Given the description of an element on the screen output the (x, y) to click on. 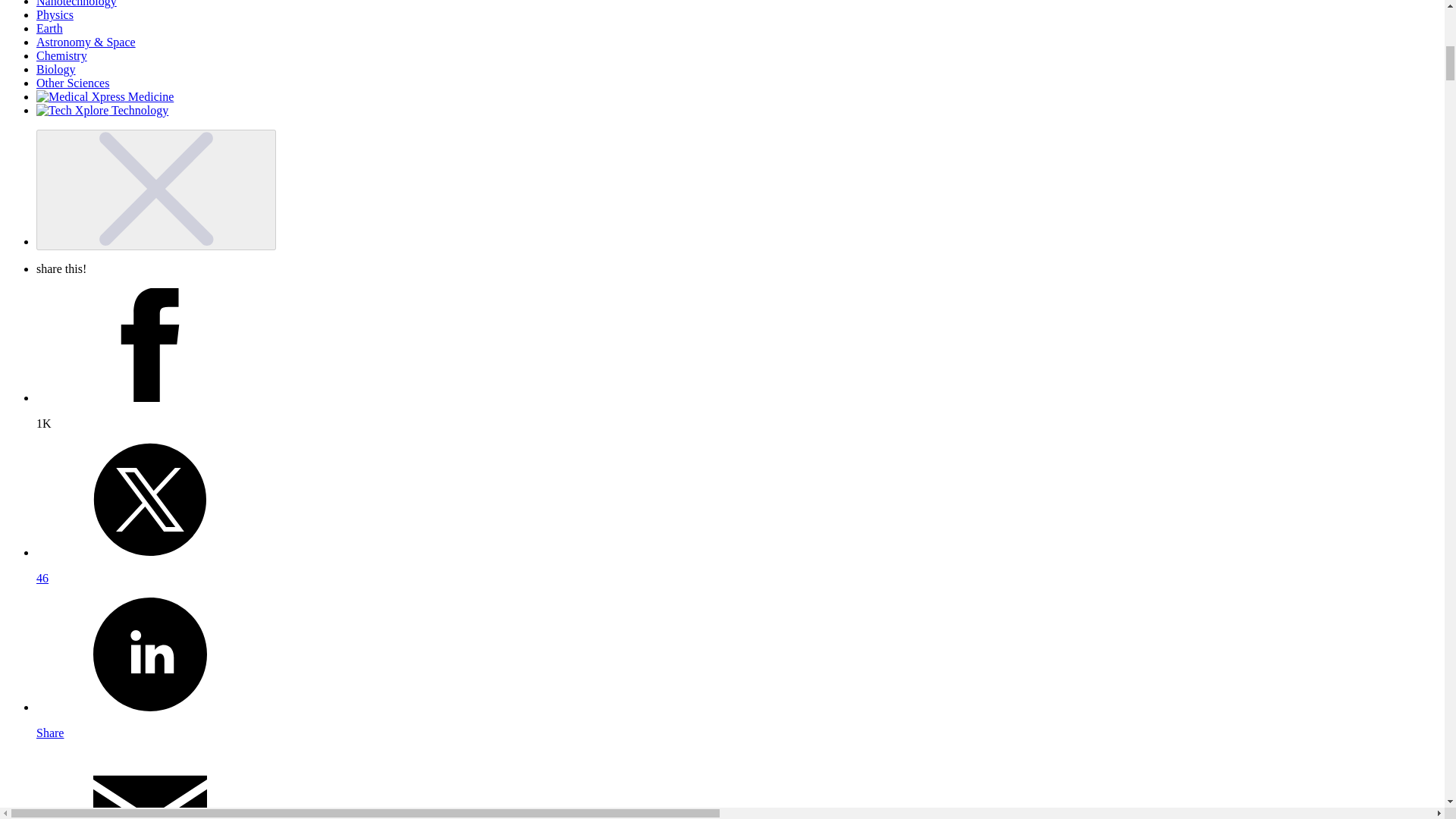
1K (737, 410)
46 (737, 565)
Physics (55, 14)
Technology (102, 110)
Earth (49, 28)
Biology (55, 69)
Chemistry (61, 55)
Nanotechnology (76, 3)
Other Sciences (72, 82)
Medicine (104, 96)
Share (737, 720)
